Given the description of an element on the screen output the (x, y) to click on. 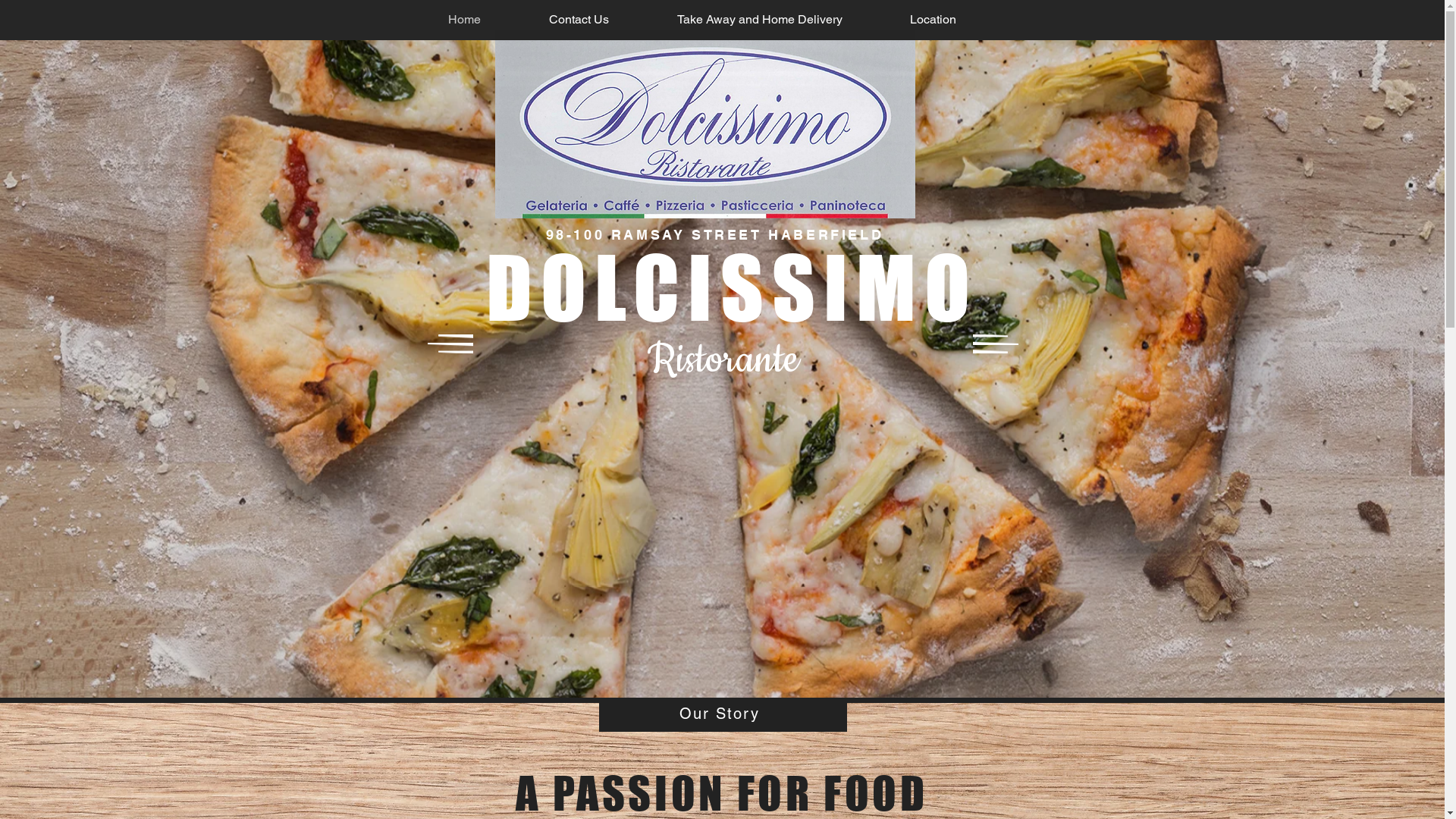
Location Element type: text (933, 19)
Home Element type: text (464, 19)
Take Away and Home Delivery Element type: text (759, 19)
Contact Us Element type: text (578, 19)
